Given the description of an element on the screen output the (x, y) to click on. 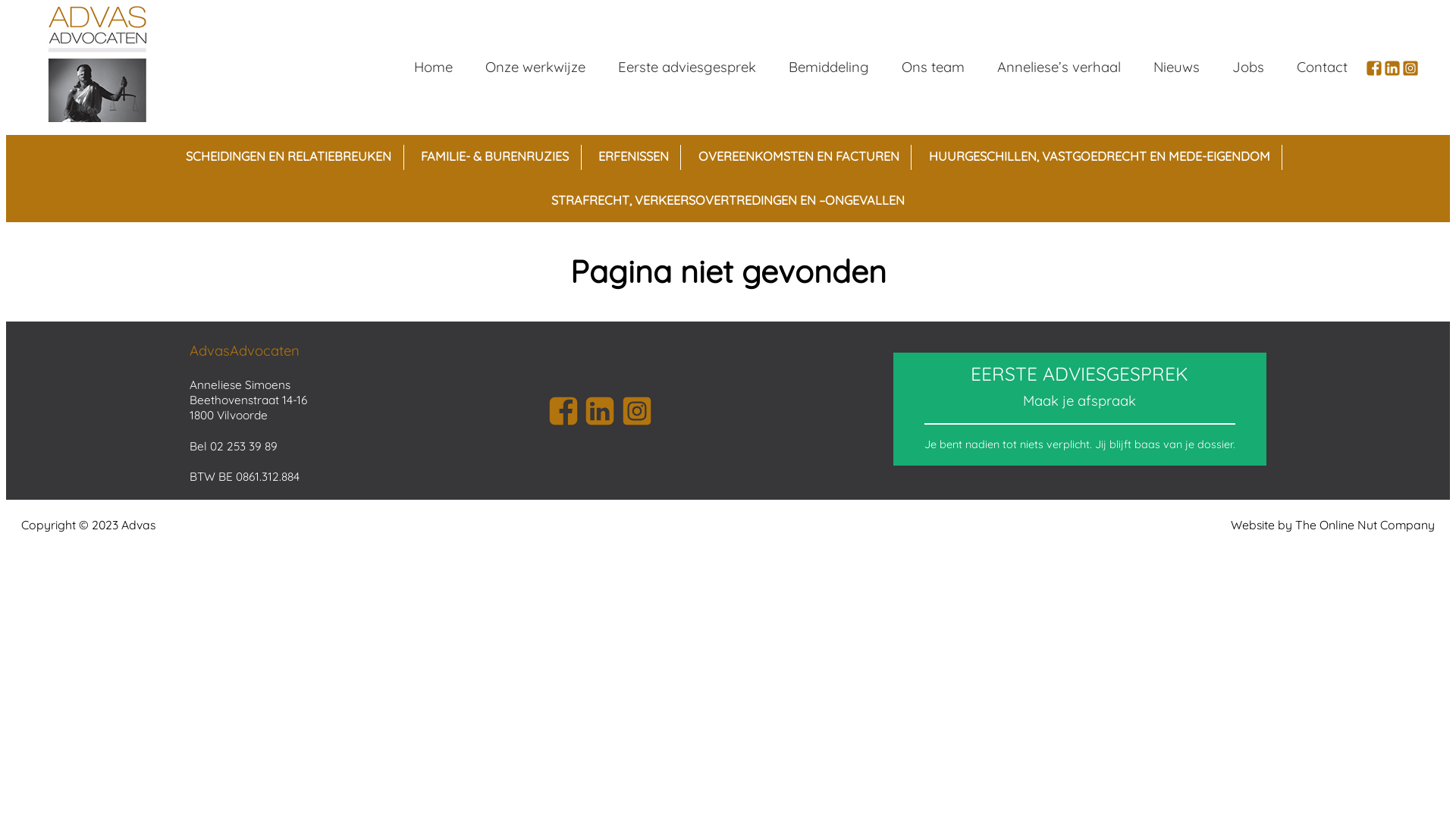
Instagram Element type: text (1410, 67)
Contact Element type: text (1322, 66)
Jobs Element type: text (1248, 66)
Ons team Element type: text (933, 66)
Nieuws Element type: text (1176, 66)
OVEREENKOMSTEN EN FACTUREN Element type: text (798, 156)
HUURGESCHILLEN, VASTGOEDRECHT EN MEDE-EIGENDOM Element type: text (1099, 156)
FAMILIE- & BURENRUZIES Element type: text (494, 156)
ERFENISSEN Element type: text (633, 156)
Instagram Element type: text (636, 410)
Onze werkwijze Element type: text (535, 66)
Linkedin Element type: text (599, 410)
Eerste adviesgesprek Element type: text (687, 66)
Bemiddeling Element type: text (829, 66)
02 253 39 89 Element type: text (243, 446)
Home Element type: text (433, 66)
Facebook Element type: text (563, 410)
SCHEIDINGEN EN RELATIEBREUKEN Element type: text (288, 156)
Website Element type: text (1252, 524)
Facebook Element type: text (1373, 67)
Linkedin Element type: text (1391, 67)
